Given the description of an element on the screen output the (x, y) to click on. 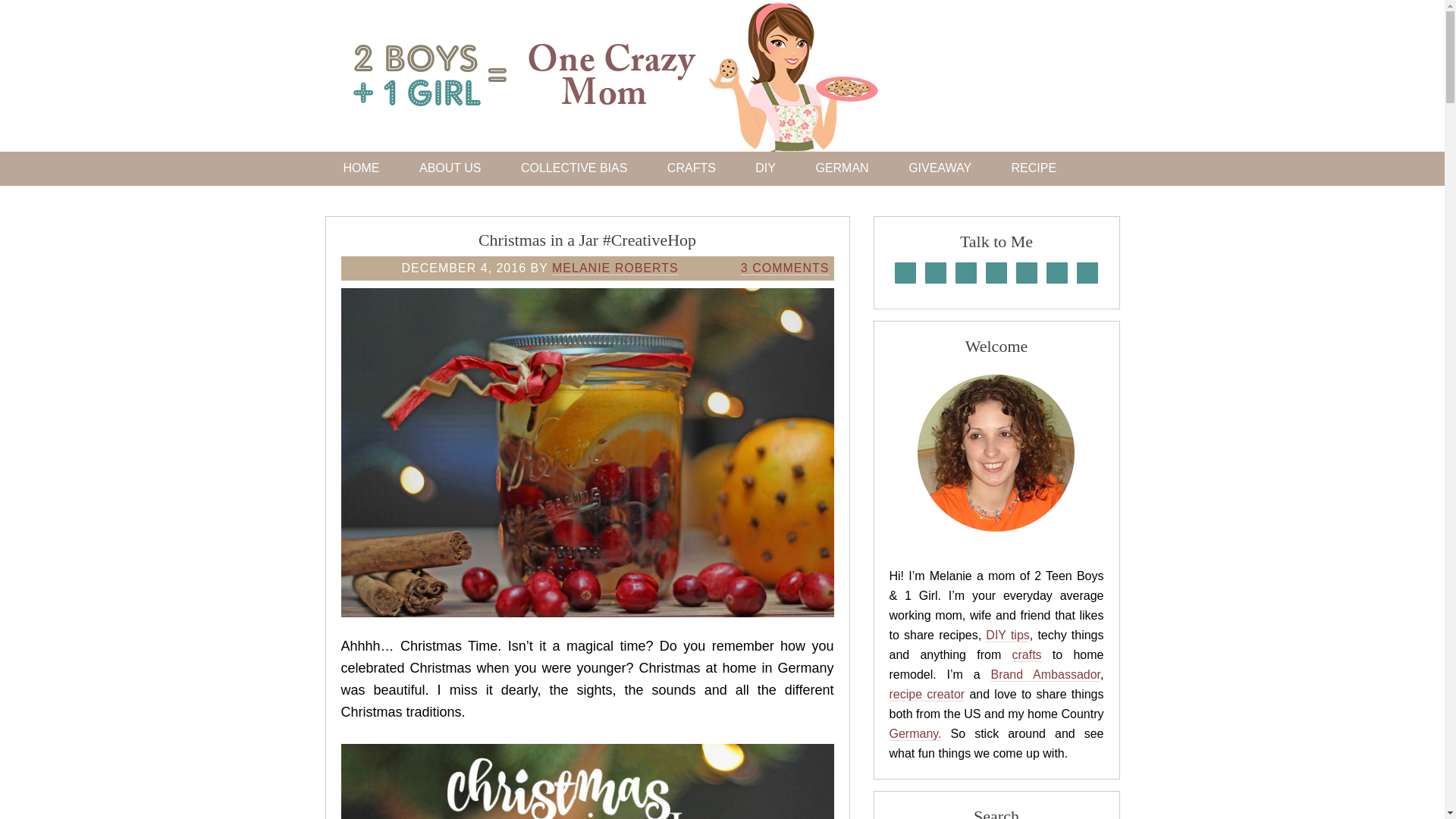
CRAFTS (691, 168)
ABOUT US (450, 168)
RECIPE (1033, 168)
GIVEAWAY (939, 168)
COLLECTIVE BIAS (574, 168)
DIY (764, 168)
MELANIE ROBERTS (614, 268)
3 COMMENTS (785, 268)
GERMAN (841, 168)
HOME (360, 168)
